Given the description of an element on the screen output the (x, y) to click on. 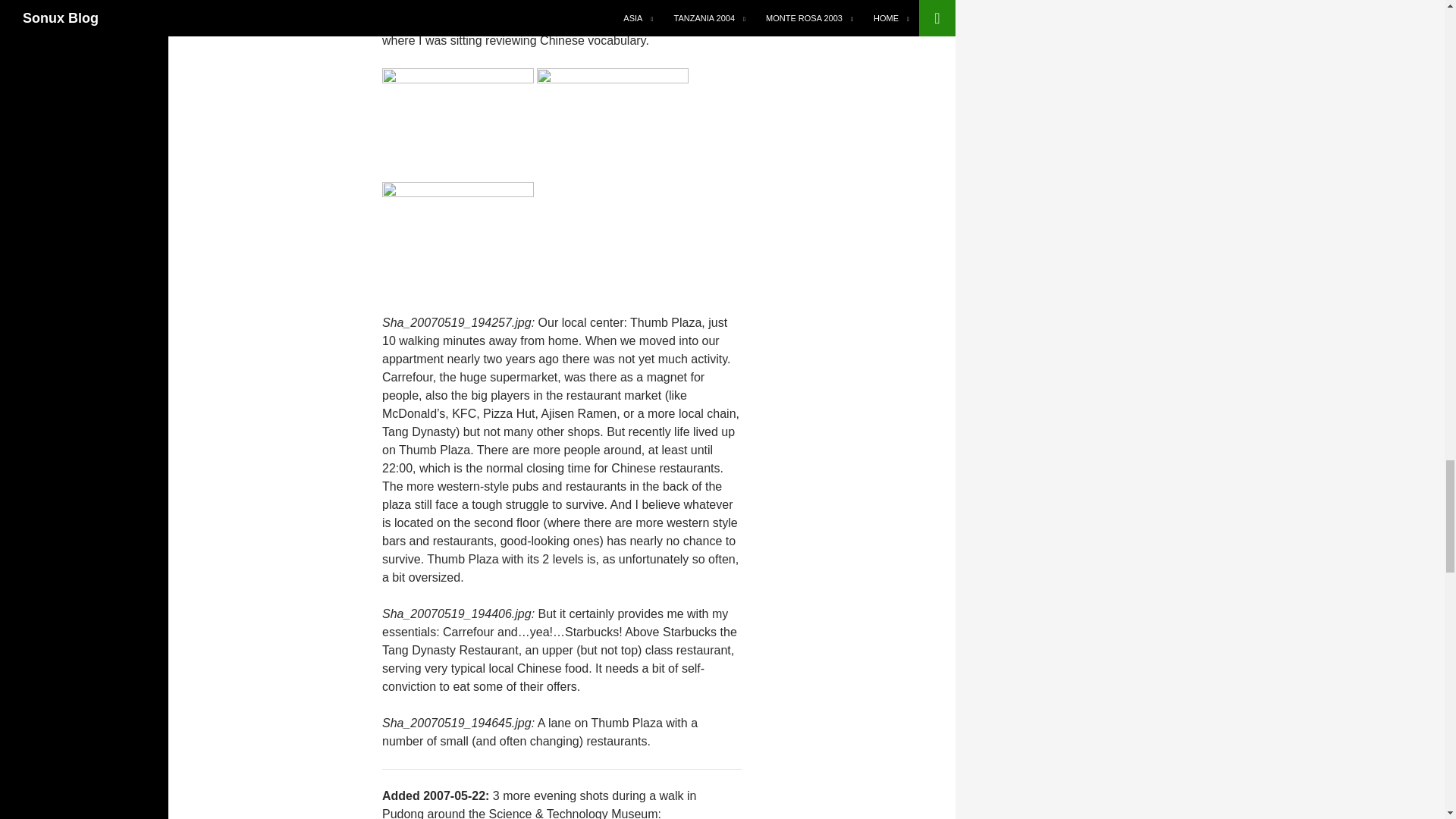
Thumb Plaza (457, 123)
